Given the description of an element on the screen output the (x, y) to click on. 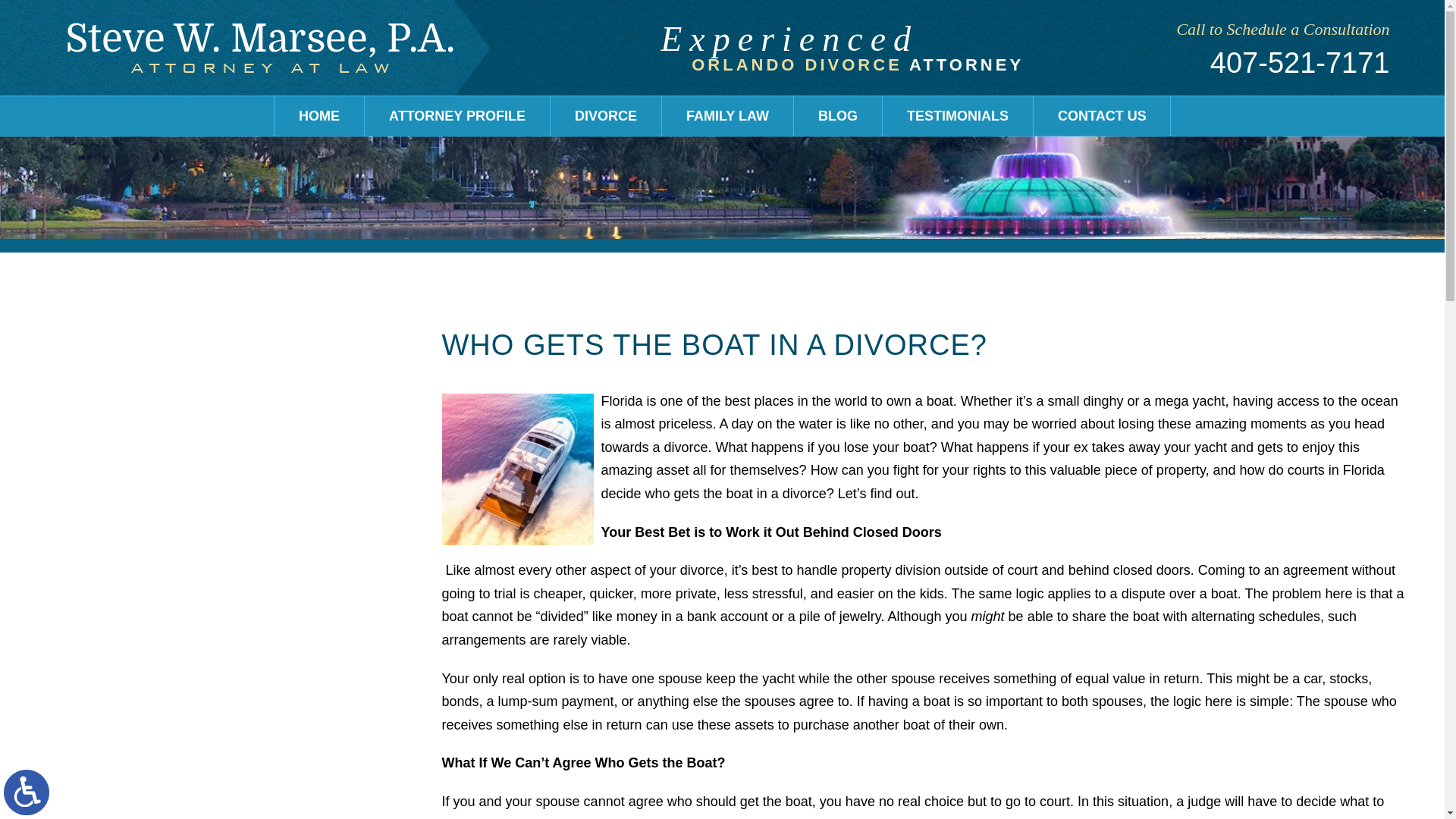
Orlando Divorce Attorney (259, 47)
Boat (516, 469)
HOME (319, 115)
BLOG (837, 115)
ATTORNEY PROFILE (457, 115)
TESTIMONIALS (956, 115)
FAMILY LAW (727, 115)
CONTACT US (1102, 115)
DIVORCE (605, 115)
